Given the description of an element on the screen output the (x, y) to click on. 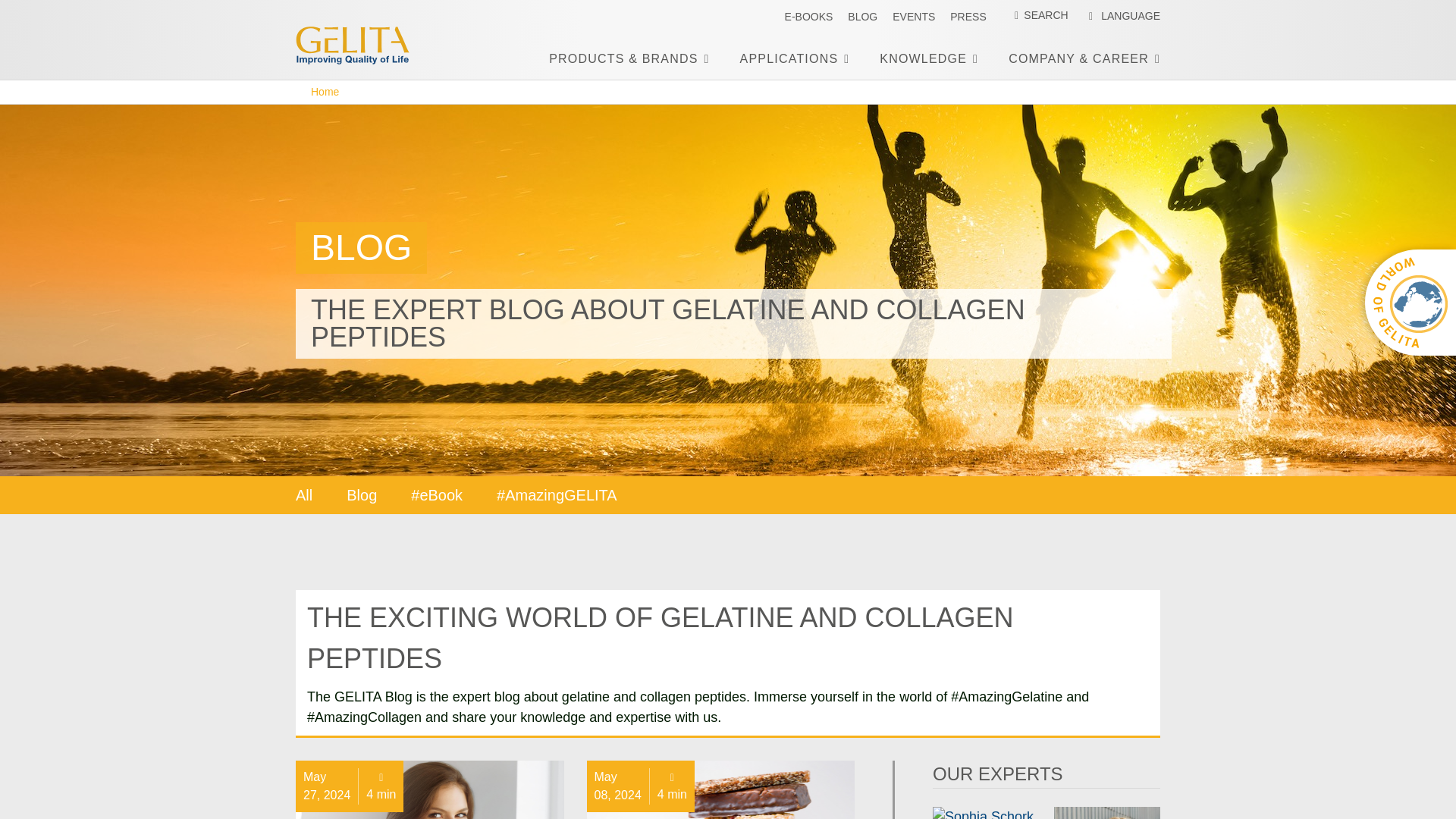
Home (363, 45)
E-Books Gelita (808, 16)
LANGUAGE (1121, 16)
Blog (862, 16)
PRESS (967, 16)
SEARCH (1034, 15)
BLOG (862, 16)
EVENTS (913, 16)
E-BOOKS (808, 16)
All categories (304, 494)
Search (43, 18)
